Given the description of an element on the screen output the (x, y) to click on. 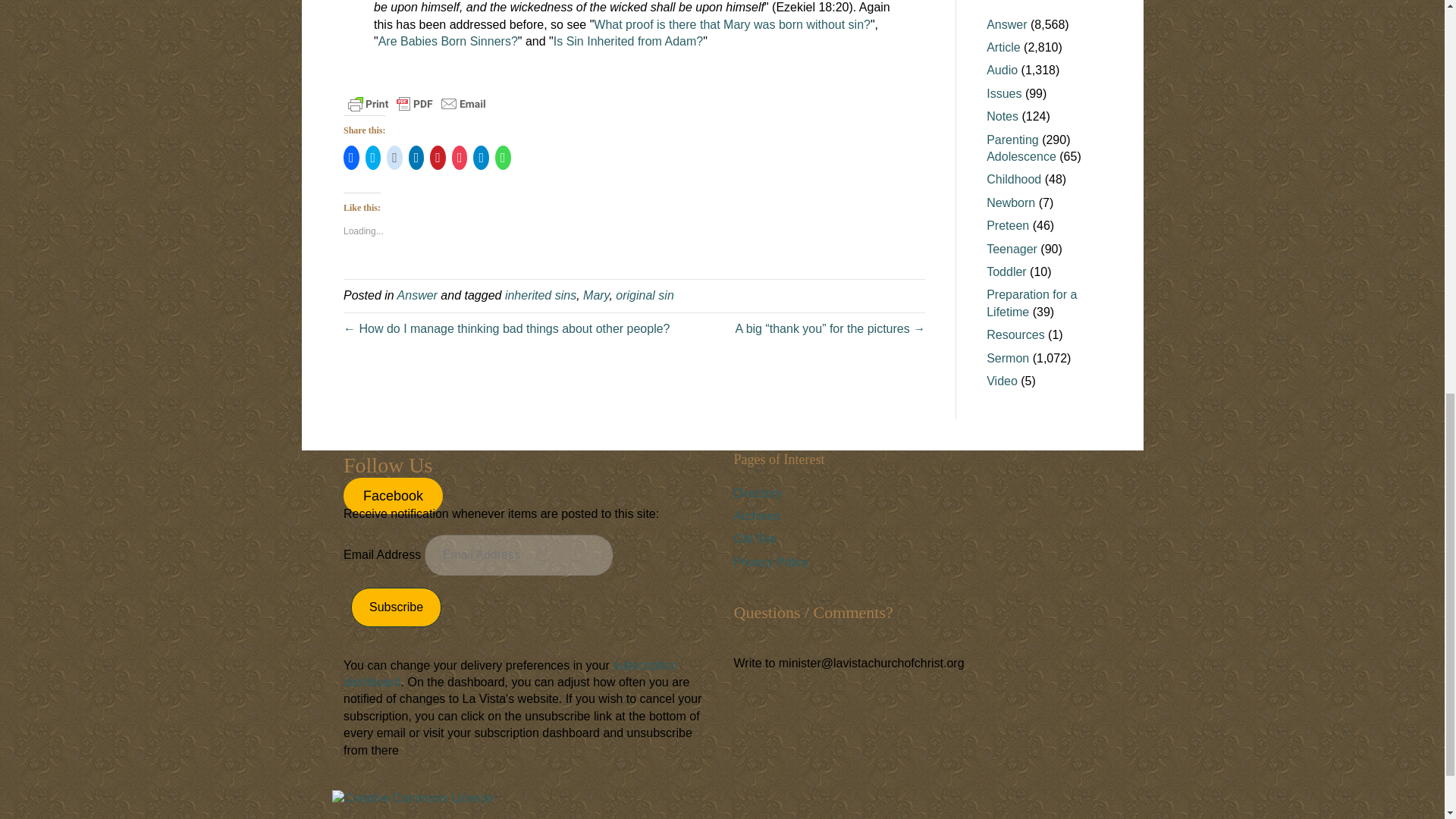
What proof is there that Mary was born without sin? (732, 24)
Is Sin Inherited from Adam? (628, 41)
Are Babies Born Sinners? (448, 41)
